Given the description of an element on the screen output the (x, y) to click on. 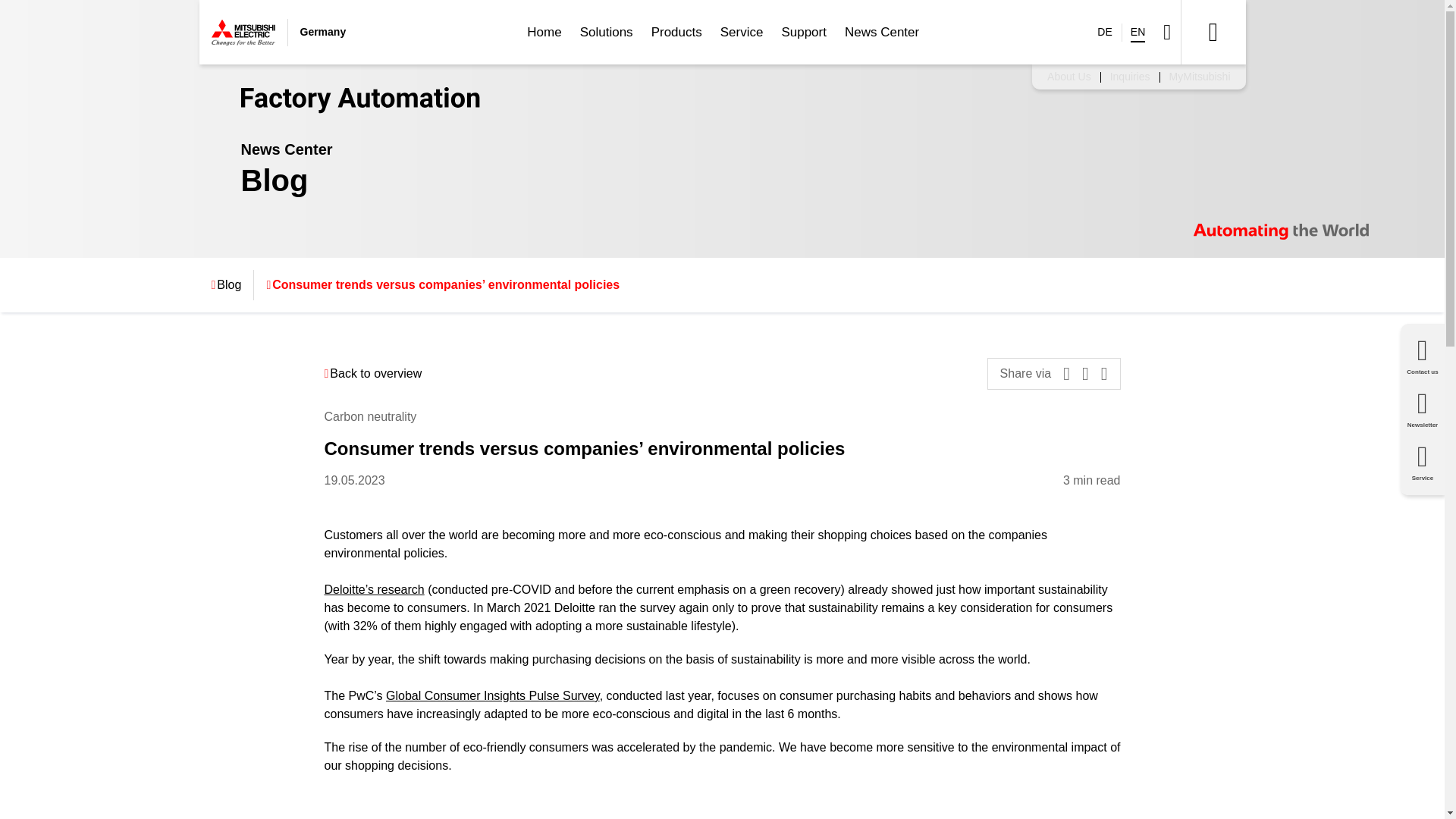
Germany (278, 32)
Solutions (606, 32)
German (1104, 32)
Products (676, 32)
English (1137, 32)
